Given the description of an element on the screen output the (x, y) to click on. 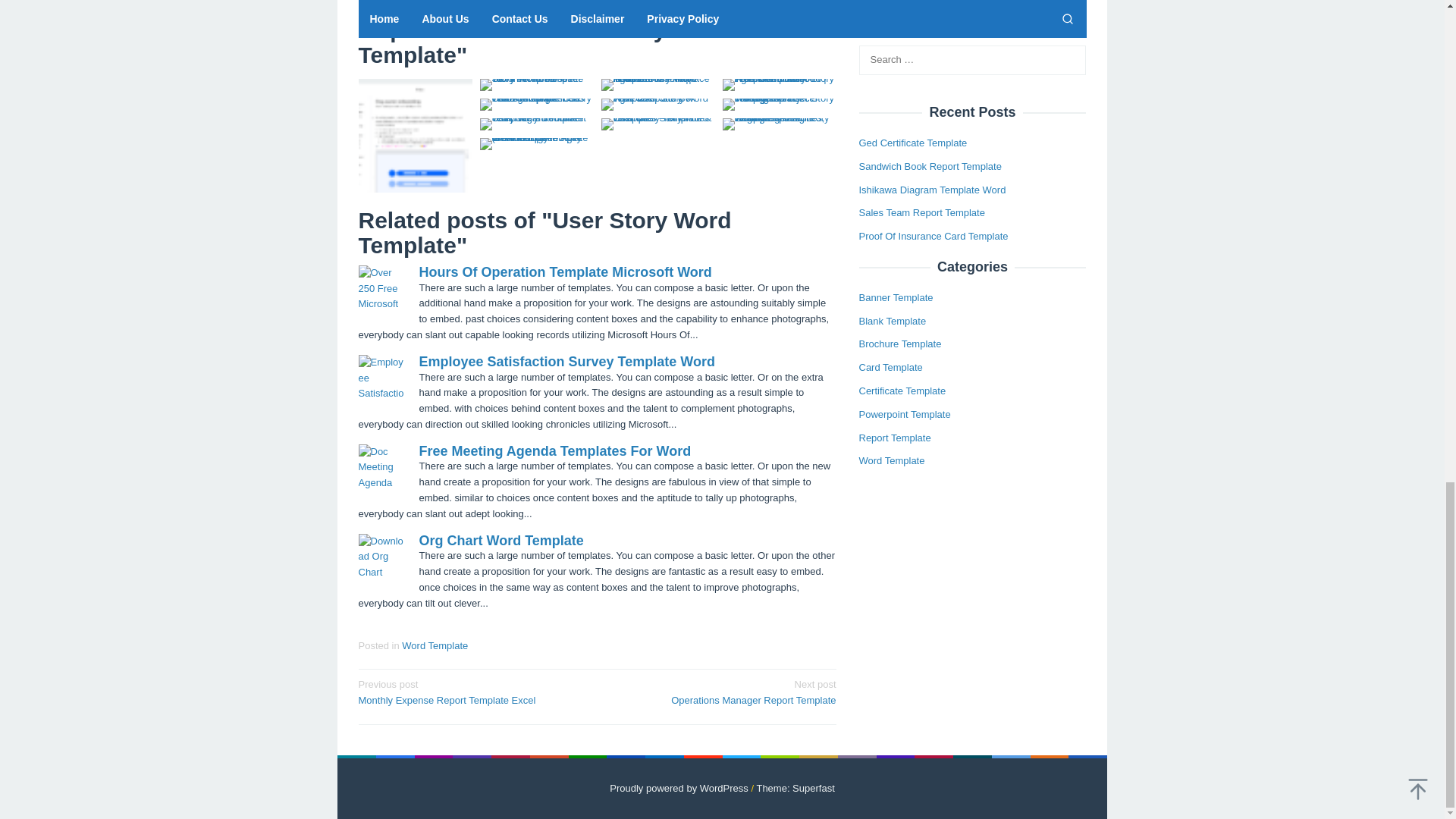
Free Meeting Agenda Templates For Word (554, 450)
Org Chart Word Template (501, 540)
Employee Satisfaction Survey Template Word (721, 691)
Hours Of Operation Template Microsoft Word (566, 361)
Word Template (472, 691)
